Given the description of an element on the screen output the (x, y) to click on. 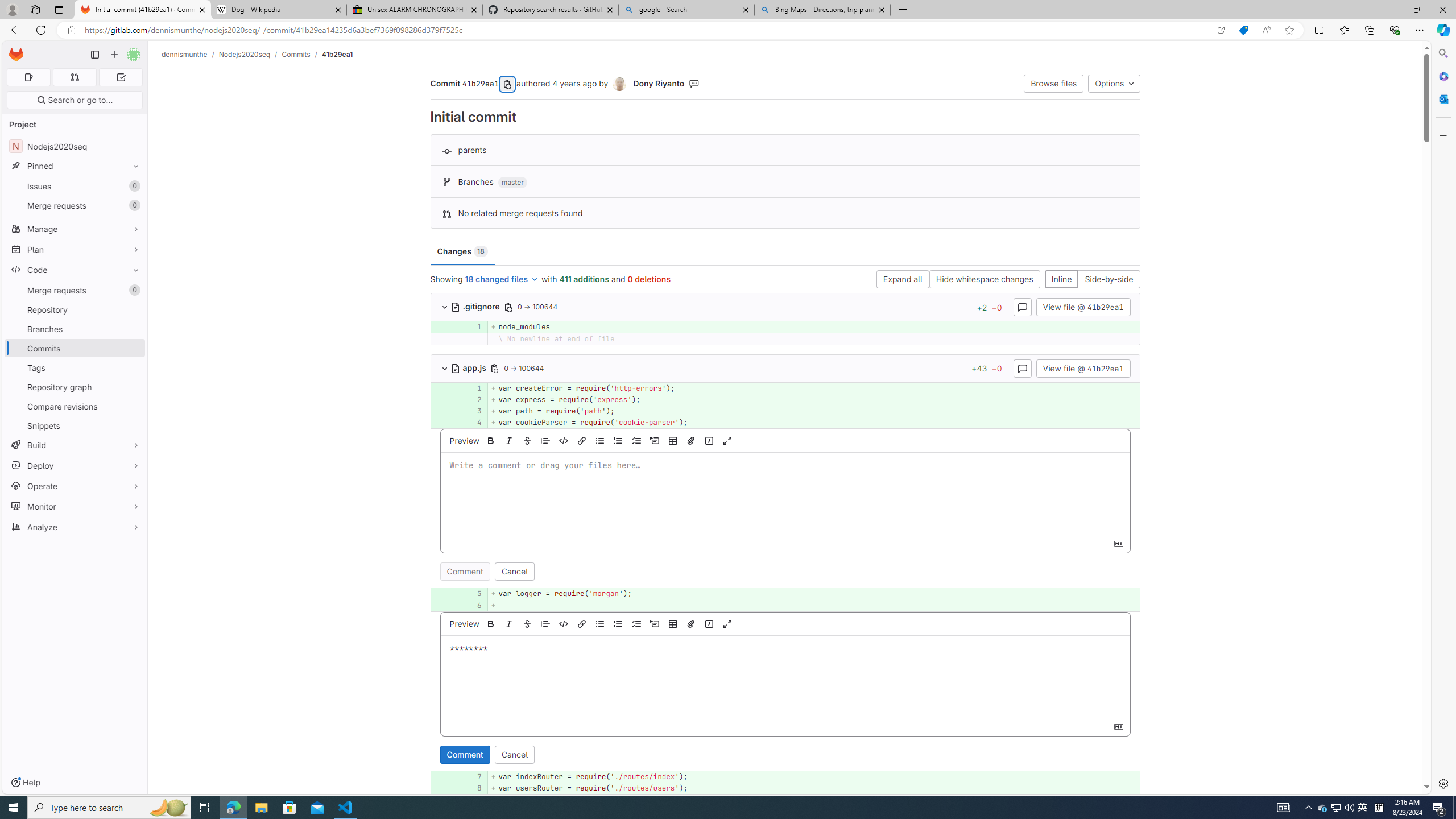
Pin Commits (132, 348)
Side-by-side (1108, 279)
Operate (74, 485)
Add a numbered list (617, 623)
Commits/ (301, 53)
18 changed files (501, 279)
8 (471, 788)
Add a comment to this line  (445, 788)
+  (813, 605)
Pinned (74, 165)
Branches (74, 328)
Merge requests0 (74, 289)
2 (471, 399)
Build (74, 444)
